Given the description of an element on the screen output the (x, y) to click on. 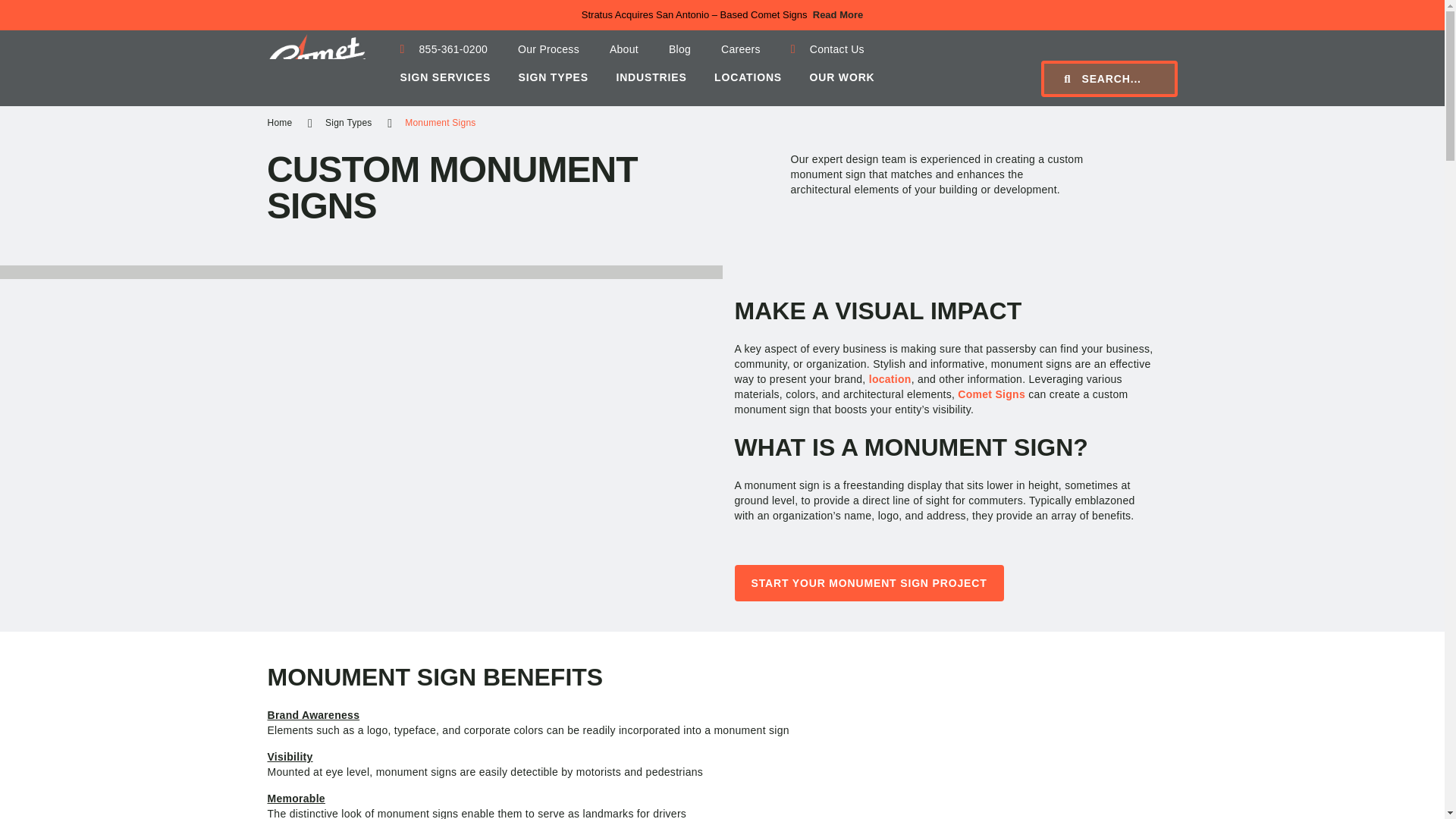
Contact Us (834, 49)
SIGN SERVICES (446, 86)
Home - Comet Signs (316, 64)
Careers (741, 49)
Blog (679, 49)
Our Process (548, 49)
About (623, 49)
Read More (837, 15)
855-361-0200 (443, 49)
SIGN TYPES (553, 86)
